Given the description of an element on the screen output the (x, y) to click on. 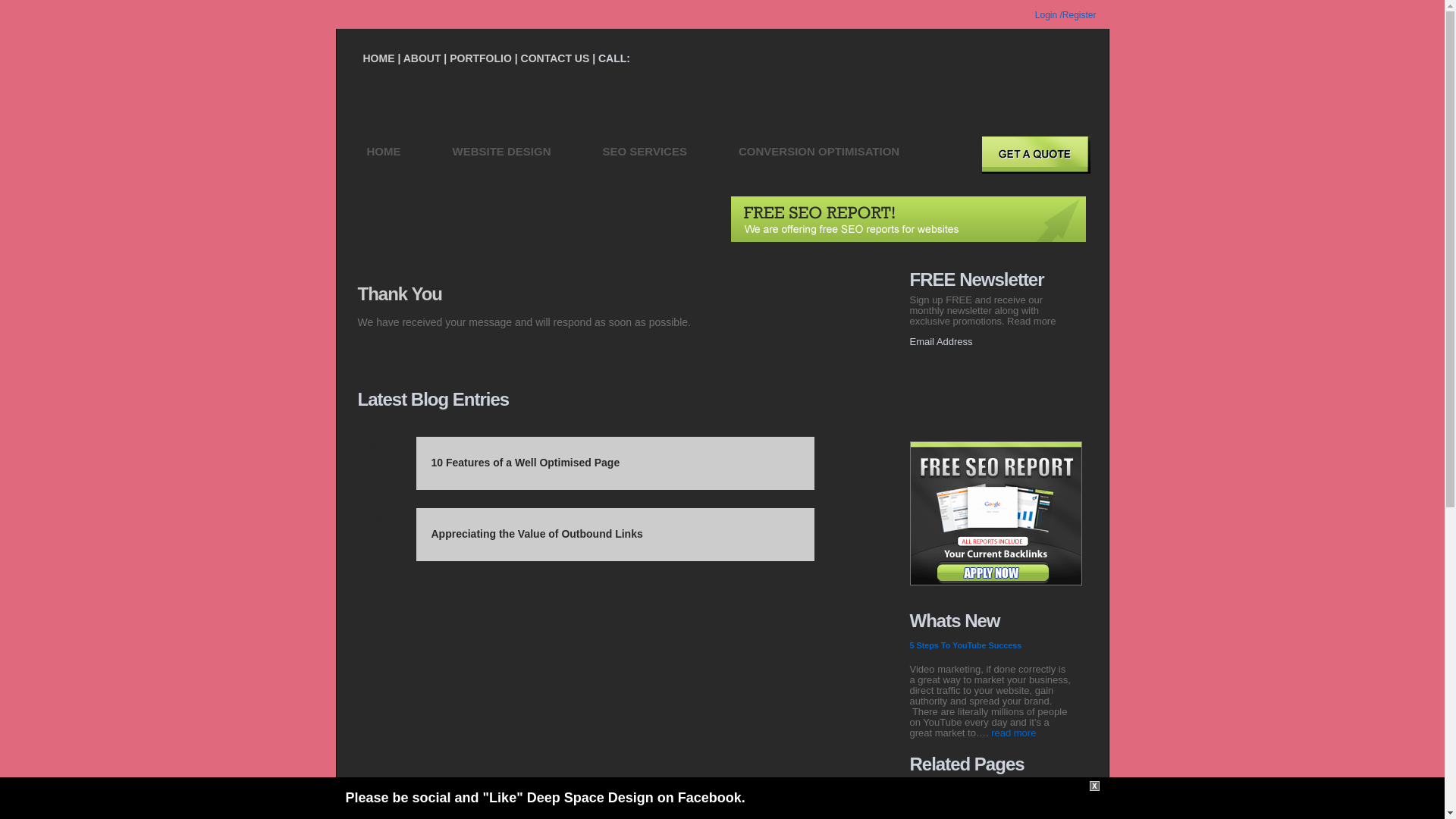
CONVERSION OPTIMISATION (818, 151)
SEO SERVICES (644, 151)
5 Steps To YouTube Success (966, 645)
HOME (383, 151)
Conversion Optimization (971, 803)
WEBSITE DESIGN (500, 151)
Appreciating the Value of Outbound Links (536, 533)
read more (1013, 732)
HOME (378, 58)
CONTACT US (555, 58)
Conversion Optimization (971, 803)
ABOUT (422, 58)
Permanent Link to 5 Steps To YouTube Success (966, 645)
10 Features of a Well Optimised Page (525, 462)
PORTFOLIO (480, 58)
